Given the description of an element on the screen output the (x, y) to click on. 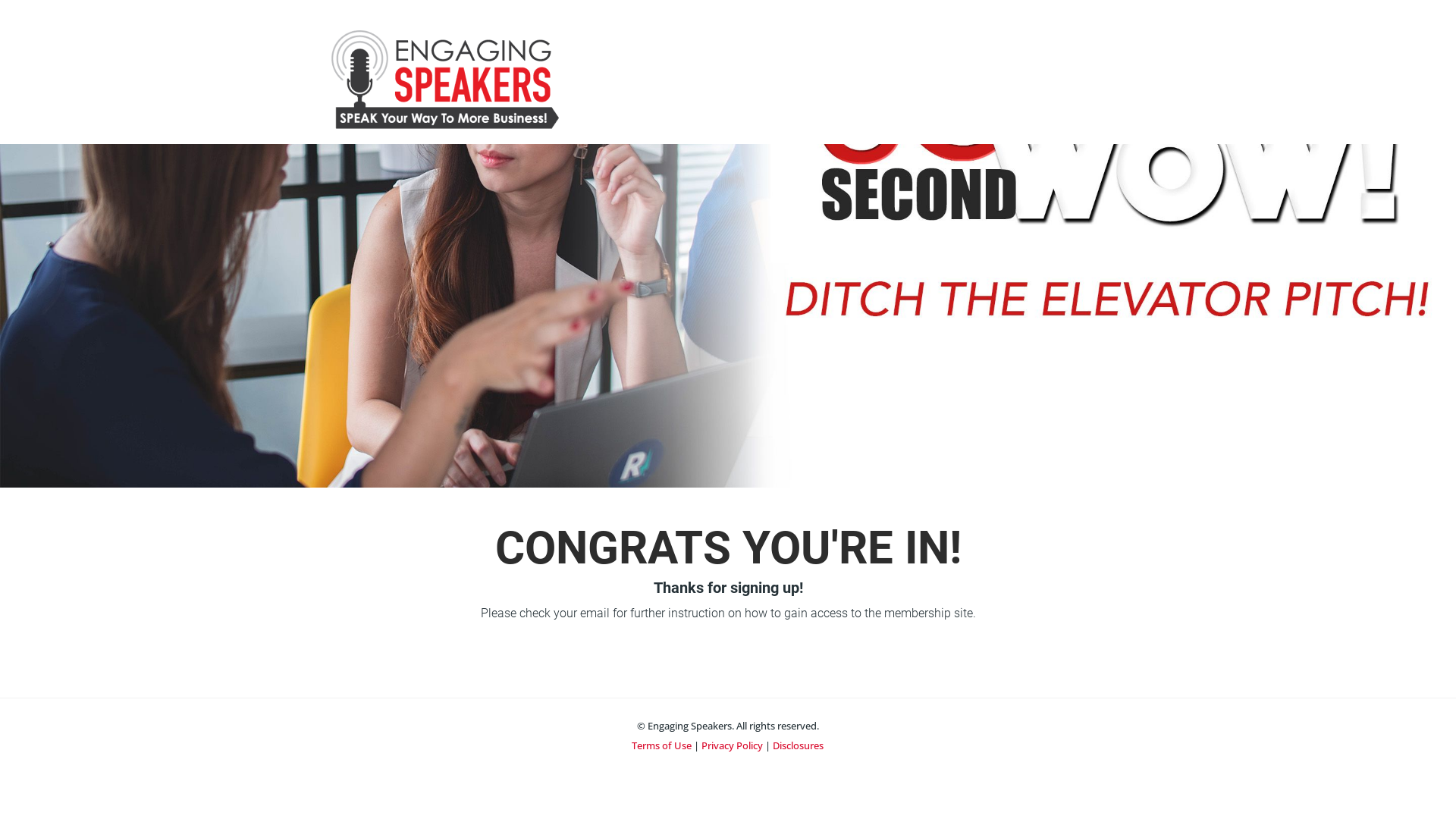
Terms of Use Element type: text (661, 745)
Disclosures Element type: text (797, 745)
Privacy Policy Element type: text (731, 745)
